Given the description of an element on the screen output the (x, y) to click on. 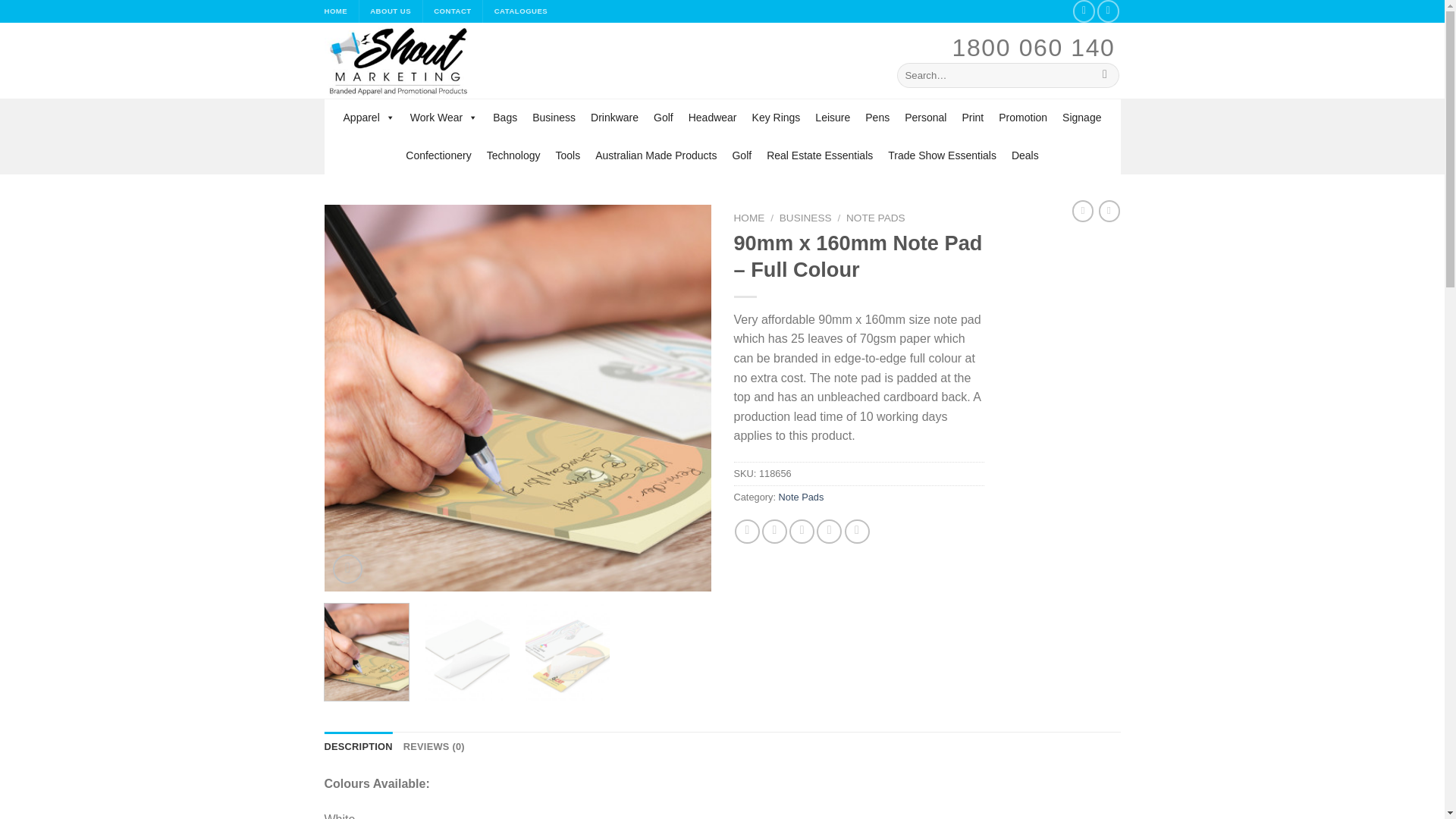
Business (553, 117)
Search (1105, 74)
Print (972, 117)
CONTACT (452, 11)
Email to a Friend (801, 531)
Share on LinkedIn (856, 531)
Share on Facebook (747, 531)
Pens (876, 117)
Bags (504, 117)
Drinkware (614, 117)
Share on Twitter (774, 531)
Zoom (347, 568)
CATALOGUES (521, 11)
Personal (924, 117)
